Given the description of an element on the screen output the (x, y) to click on. 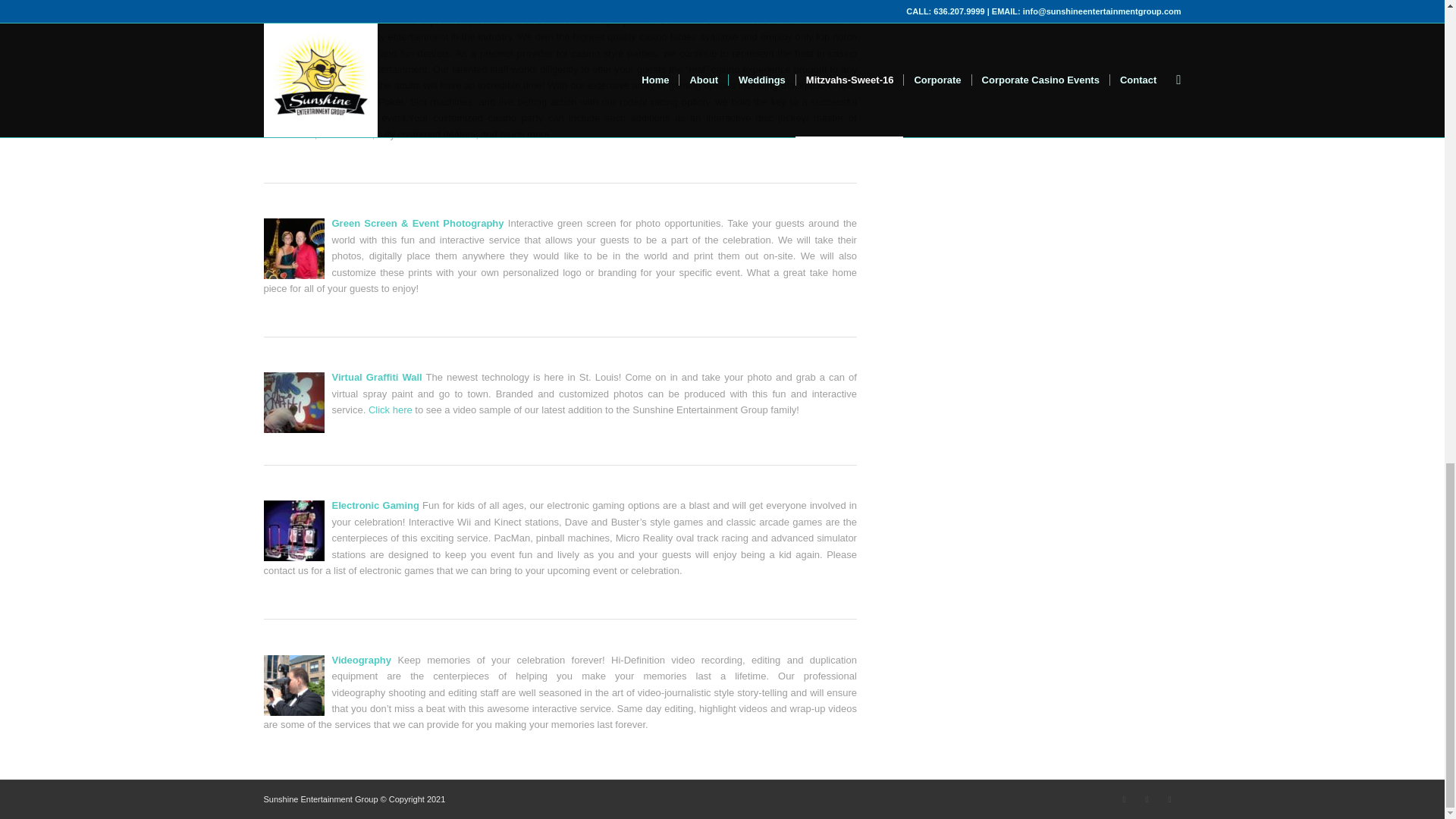
Linkedin (1169, 798)
Gplus (1146, 798)
St Louis casino night parties (588, 20)
Facebook (1124, 798)
Click here (390, 409)
